Given the description of an element on the screen output the (x, y) to click on. 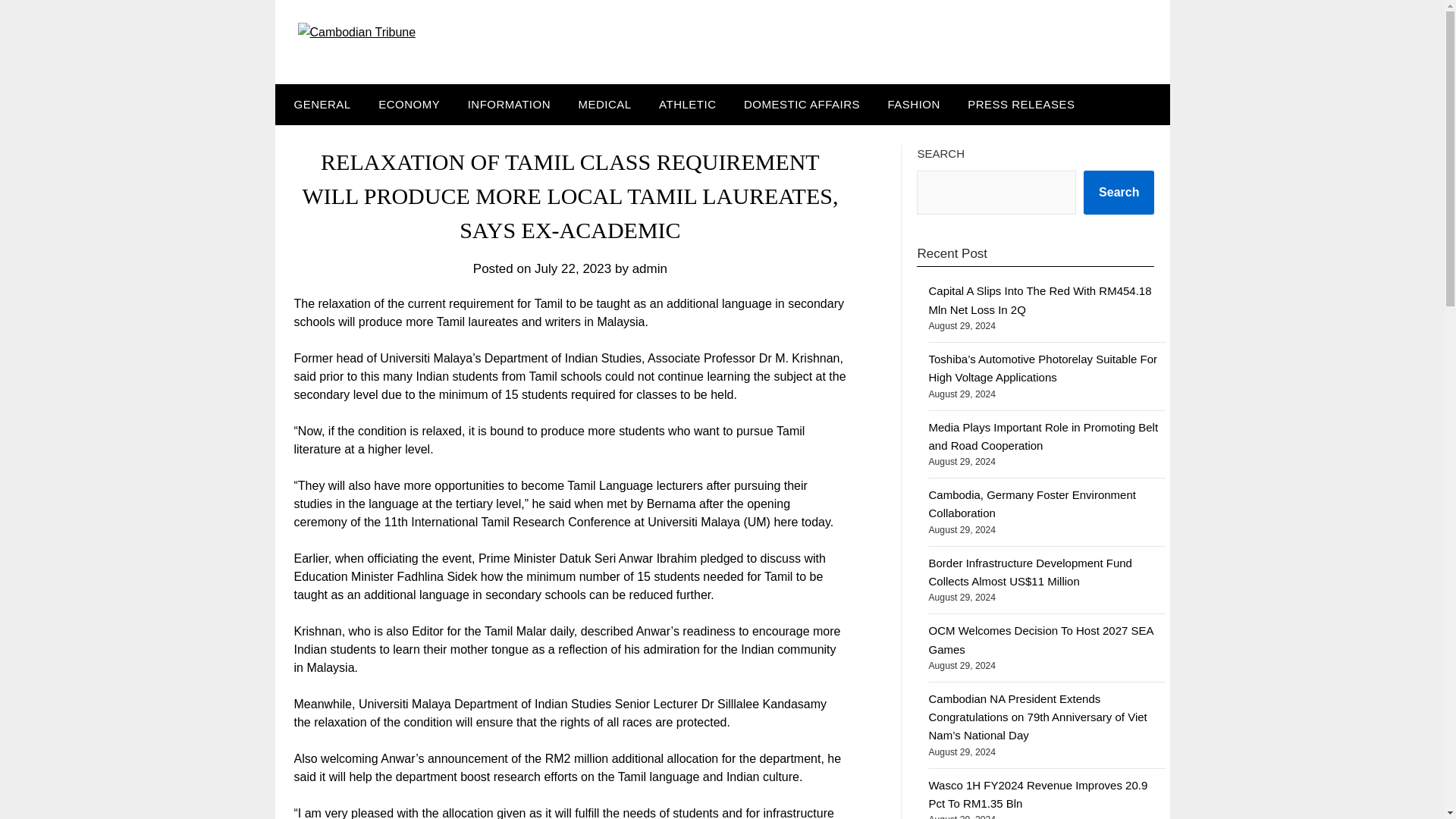
July 22, 2023 (572, 268)
PRESS RELEASES (1020, 104)
Politics (802, 104)
Cambodia, Germany Foster Environment Collaboration (1031, 503)
OCM Welcomes Decision To Host 2027 SEA Games (1040, 639)
INFORMATION (508, 104)
admin (648, 268)
Wasco 1H FY2024 Revenue Improves 20.9 Pct To RM1.35 Bln (1037, 793)
ATHLETIC (687, 104)
